Given the description of an element on the screen output the (x, y) to click on. 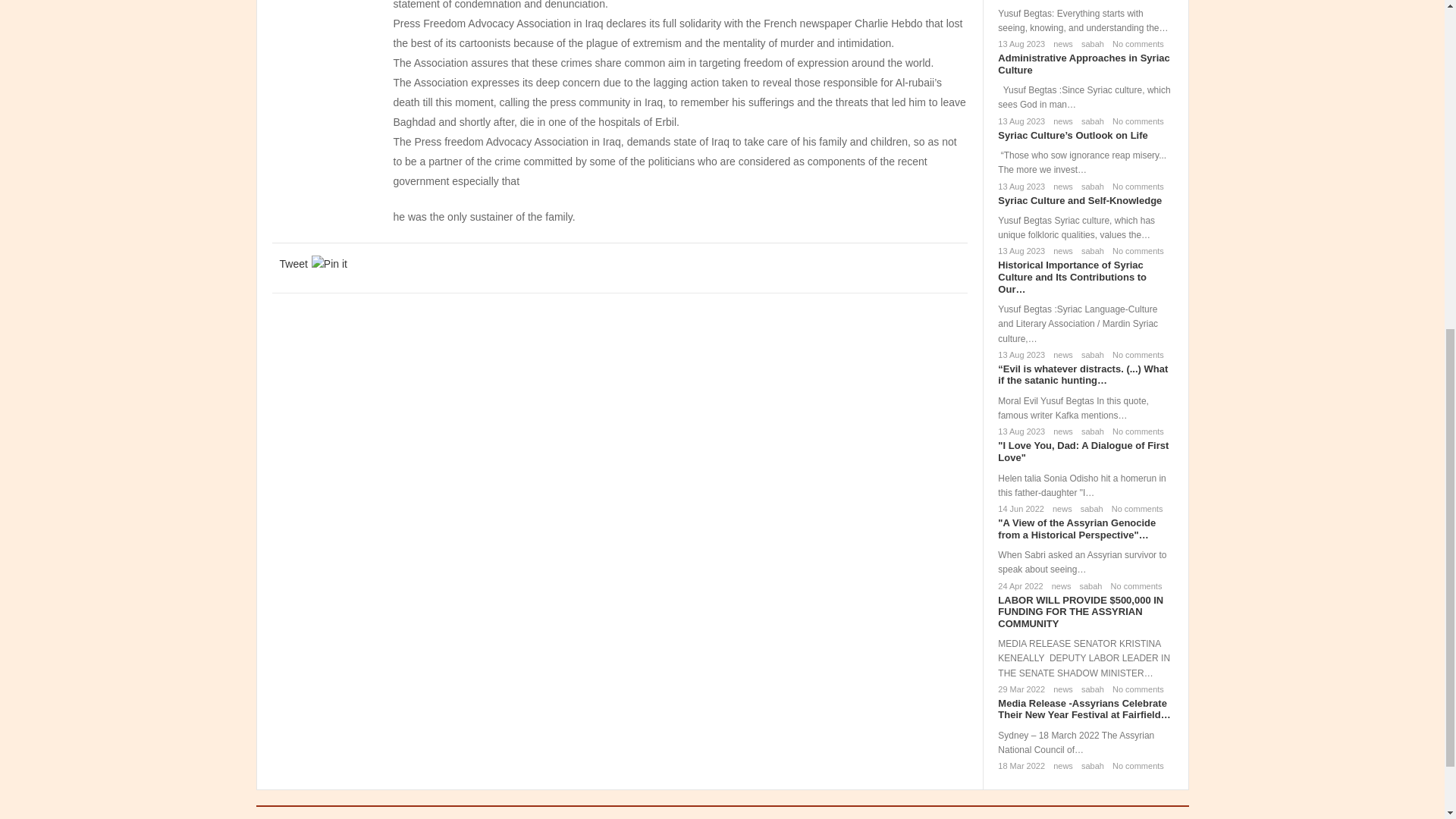
Pin it (329, 263)
I Love You, Dad: A Dialogue of First Love (1083, 451)
Tweet (293, 263)
Administrative Approaches in Syriac Culture (1083, 64)
